Given the description of an element on the screen output the (x, y) to click on. 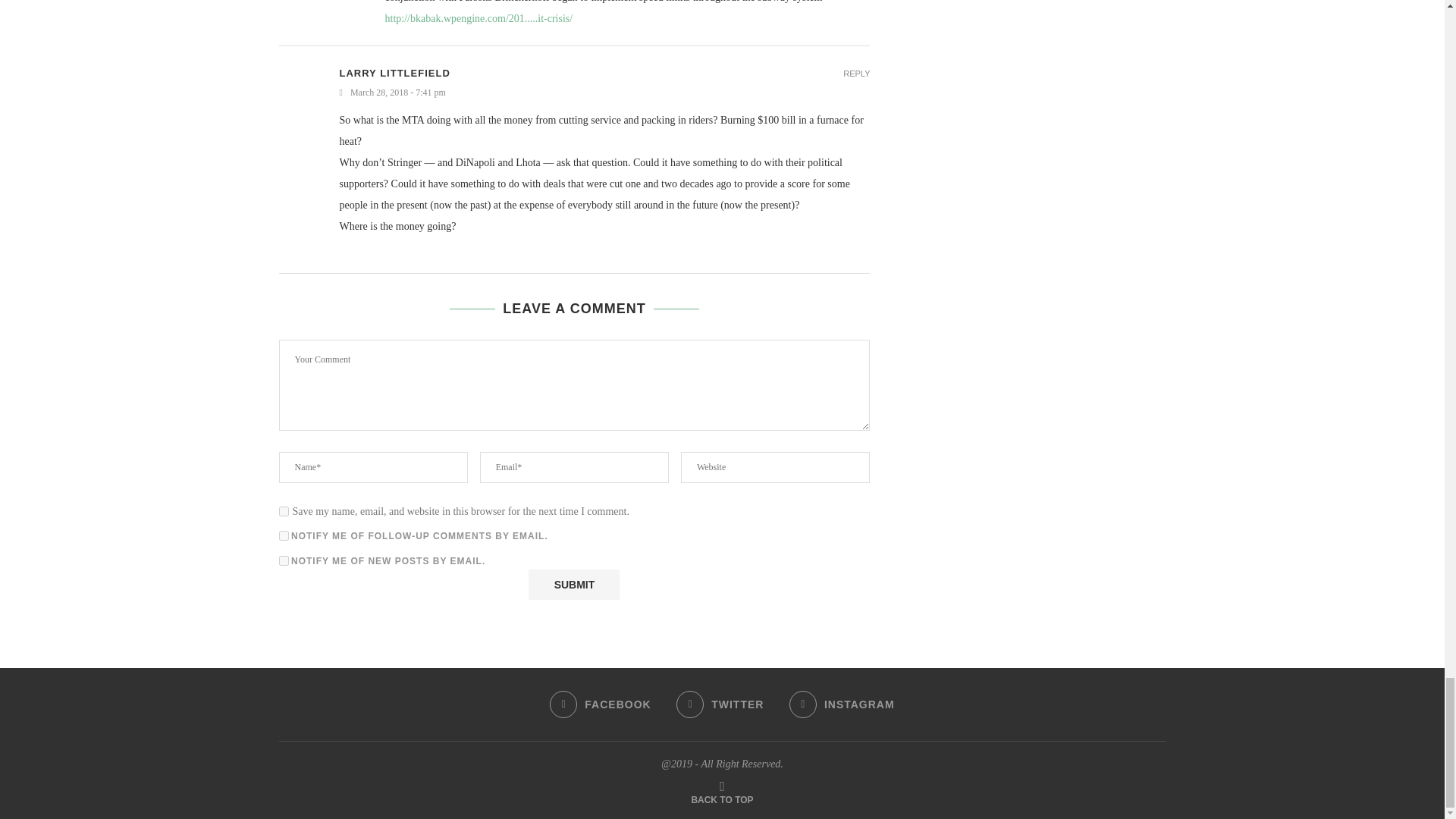
subscribe (283, 560)
yes (283, 511)
Wednesday, March 28, 2018, 7:41 pm (604, 92)
subscribe (283, 535)
Submit (574, 584)
